Given the description of an element on the screen output the (x, y) to click on. 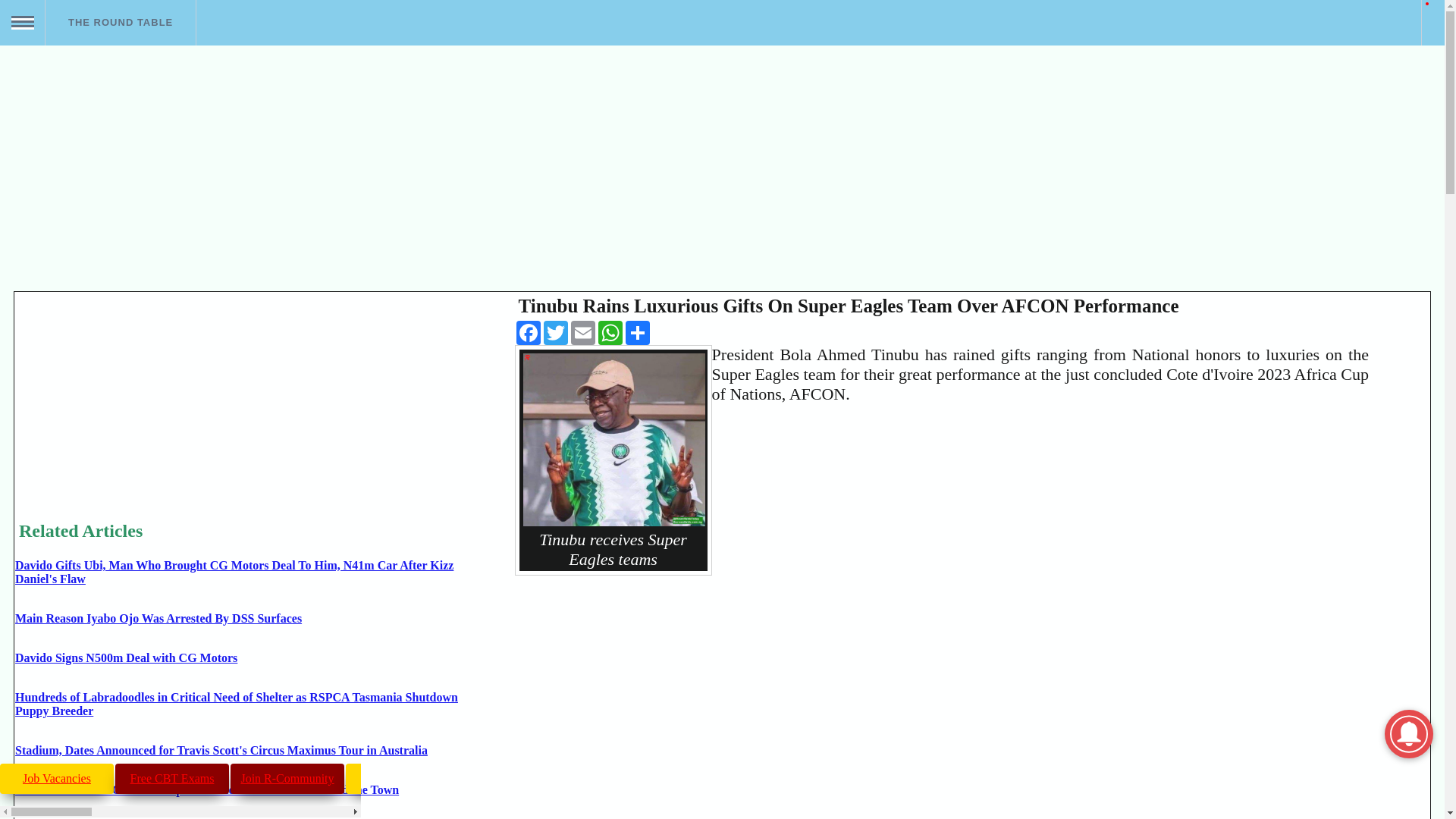
R-Community (286, 778)
News Headlines (518, 778)
Join R-Community (286, 778)
Account (112, 212)
Password (112, 258)
Search (21, 68)
Search (633, 778)
Main Reason Iyabo Ojo Was Arrested By DSS Surfaces (157, 617)
Make Money (403, 778)
Free CBT Exams (171, 778)
Job Vacancies (56, 778)
Contact (112, 294)
